Given the description of an element on the screen output the (x, y) to click on. 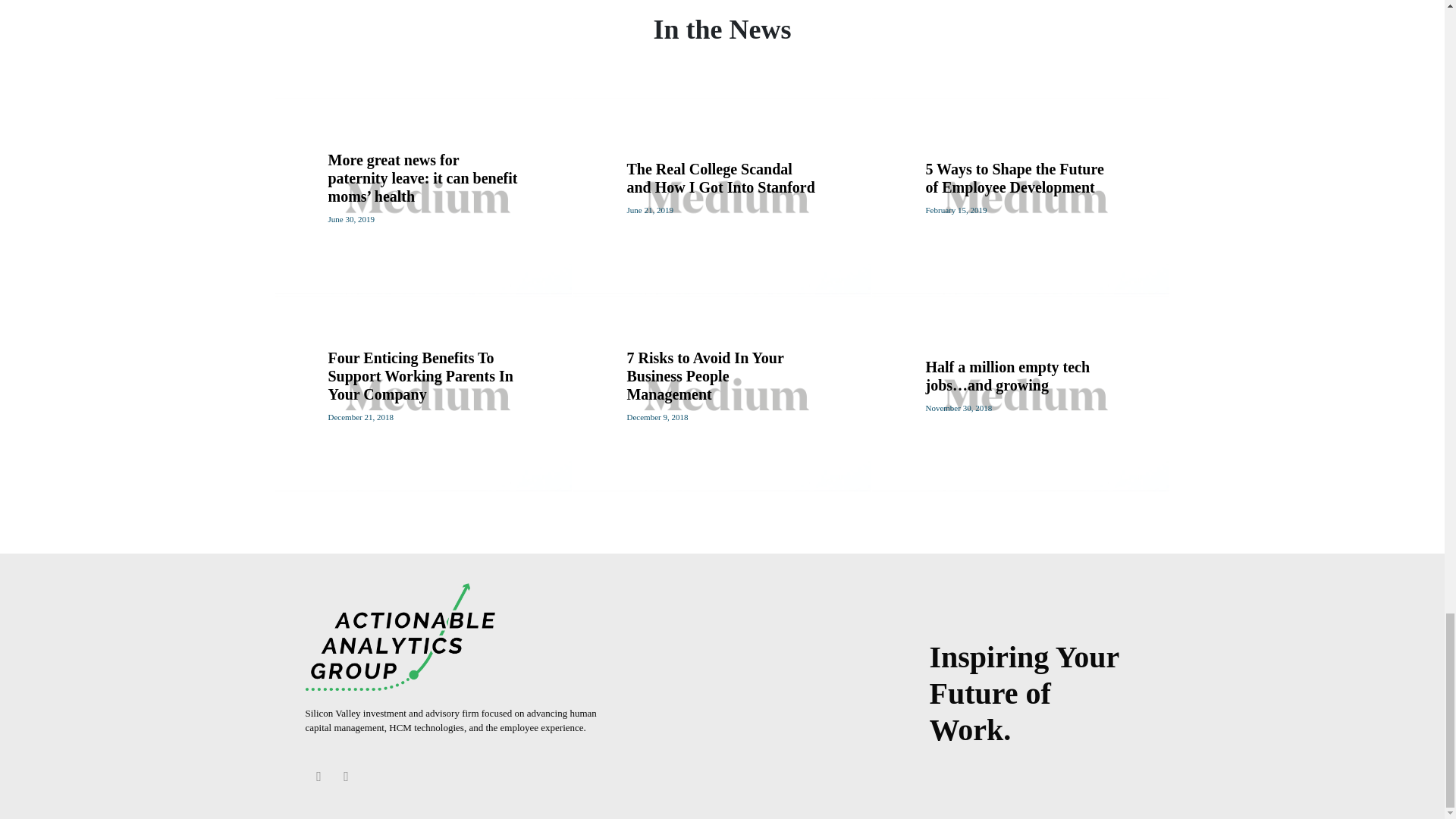
The Real College Scandal and How I Got Into Stanford (719, 177)
February 15, 2019 (955, 209)
June 21, 2019 (649, 209)
June 30, 2019 (350, 218)
December 21, 2018 (360, 416)
November 30, 2018 (957, 407)
5 Ways to Shape the Future of Employee Development (1013, 177)
December 9, 2018 (656, 416)
7 Risks to Avoid In Your Business People Management (704, 375)
